Given the description of an element on the screen output the (x, y) to click on. 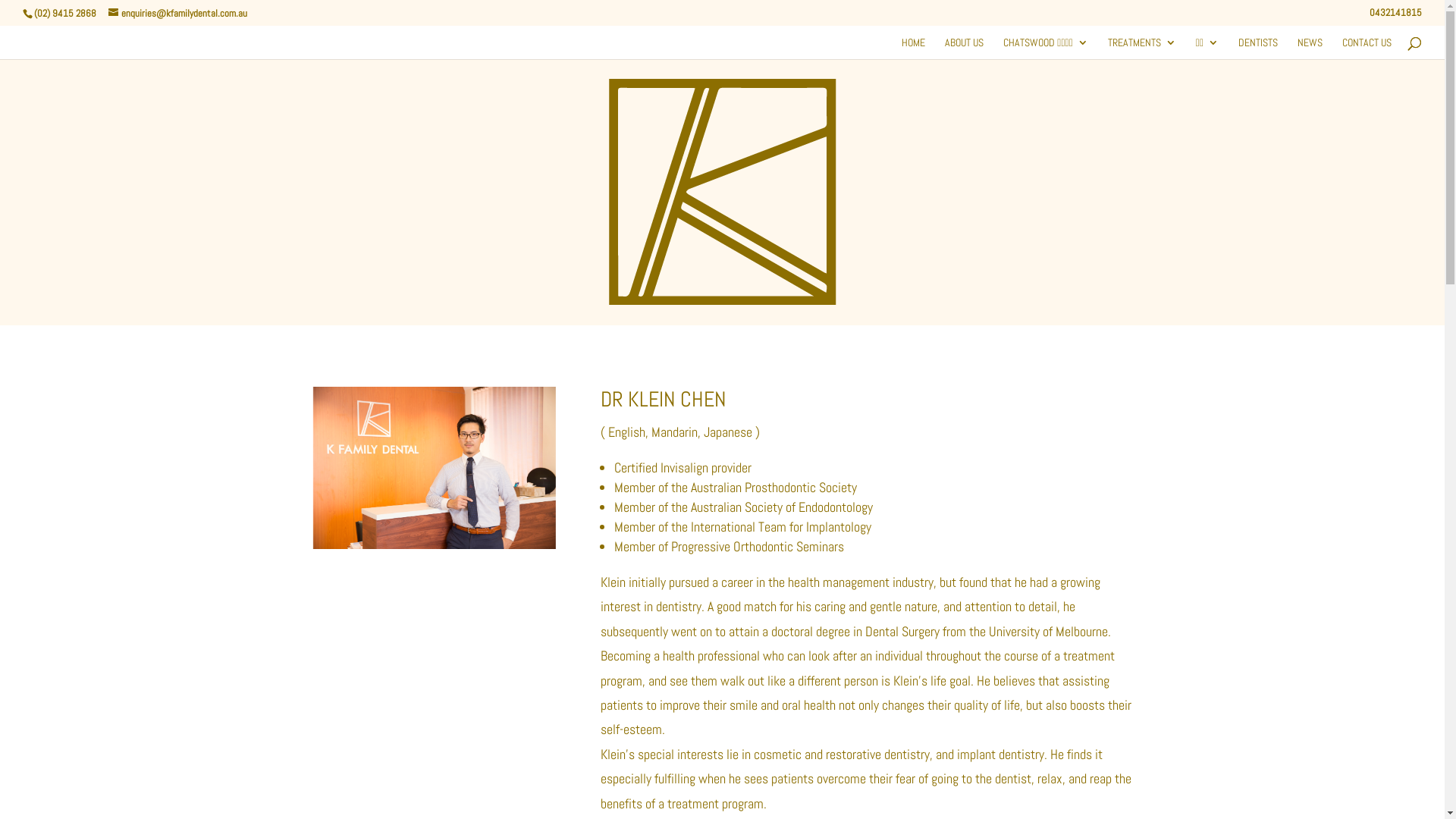
(02) 9415 2868 Element type: text (64, 12)
CONTACT US Element type: text (1366, 47)
DENTISTS Element type: text (1257, 47)
TREATMENTS Element type: text (1141, 47)
HOME Element type: text (913, 47)
enquiries@kfamilydental.com.au Element type: text (177, 12)
ABOUT US Element type: text (963, 47)
NEWS Element type: text (1309, 47)
